Given the description of an element on the screen output the (x, y) to click on. 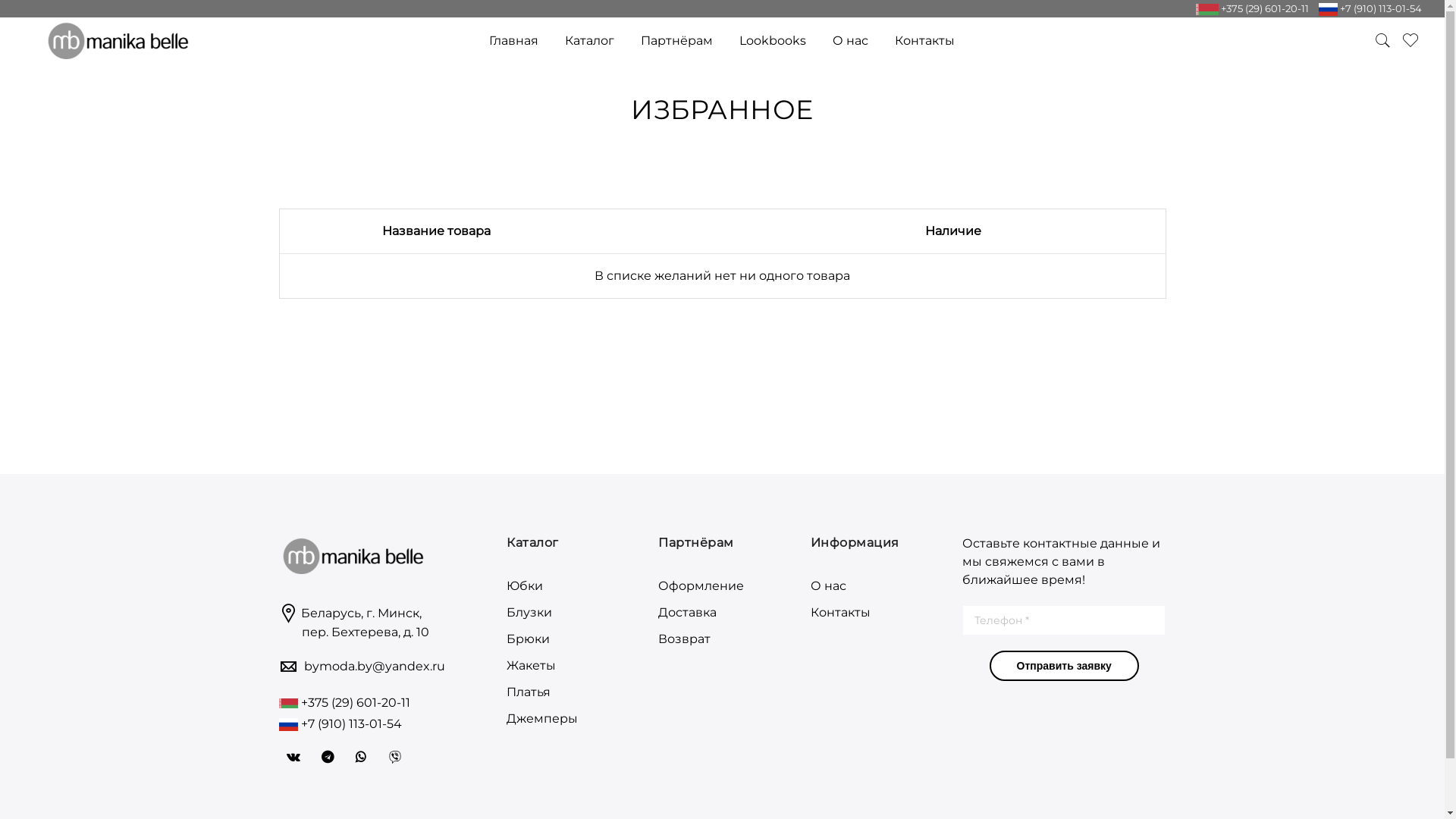
Lookbooks Element type: text (772, 40)
+375 (29) 601-20-11 Element type: text (353, 702)
+375 (29) 601-20-11 Element type: text (1263, 8)
+7 (910) 113-01-54 Element type: text (1379, 8)
+7 (910) 113-01-54 Element type: text (349, 723)
Whatsapp Element type: hover (361, 755)
bymoda.by@yandex.ru Element type: text (373, 665)
